Given the description of an element on the screen output the (x, y) to click on. 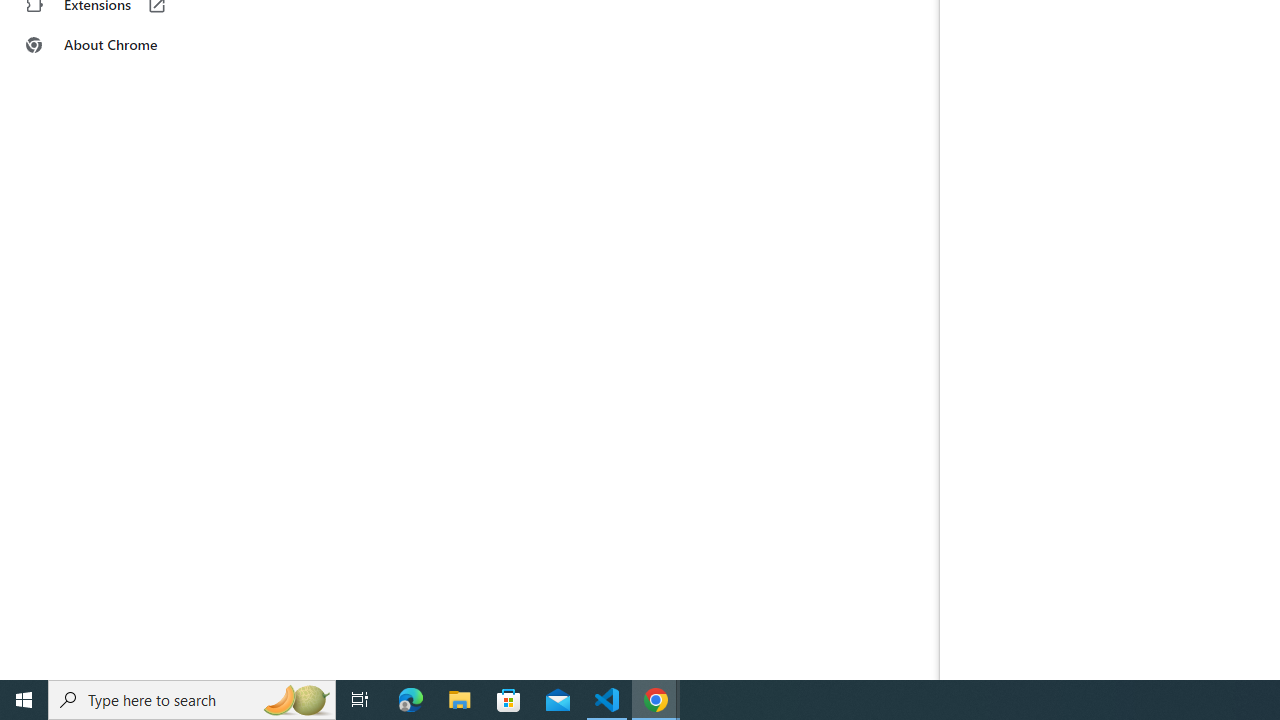
About Chrome (124, 44)
